Given the description of an element on the screen output the (x, y) to click on. 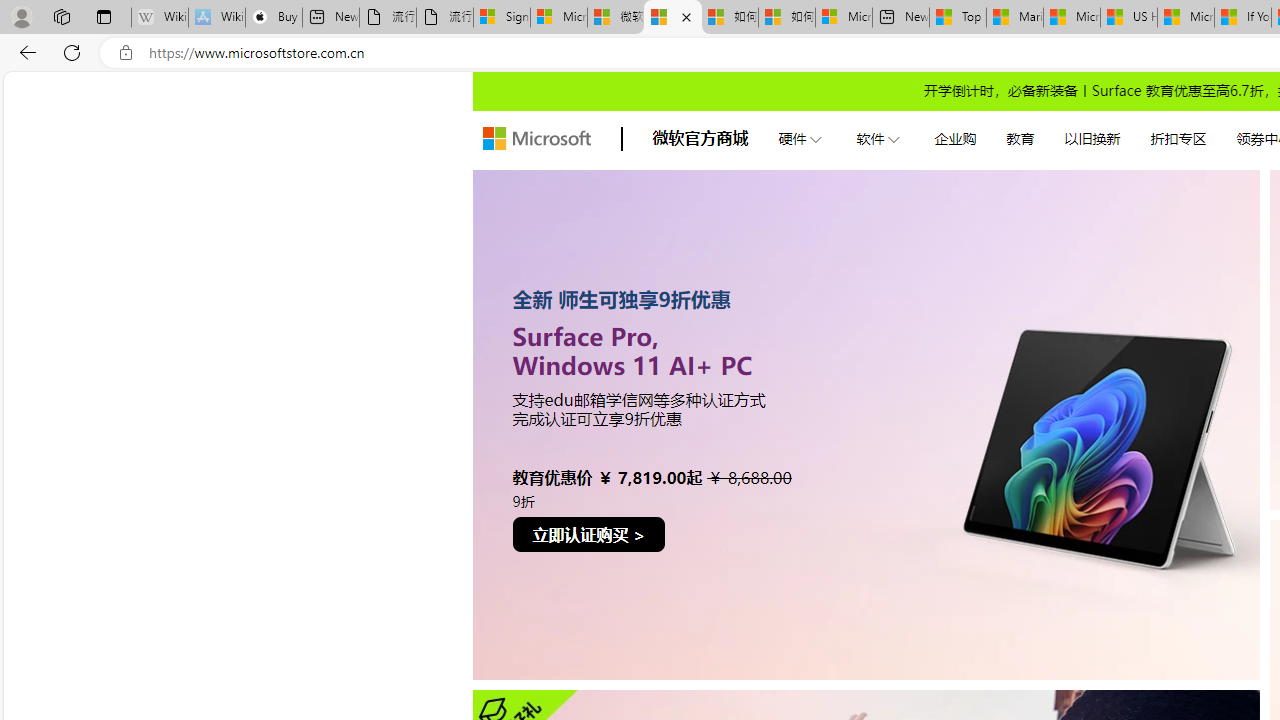
US Heat Deaths Soared To Record High Last Year (1128, 17)
